Given the description of an element on the screen output the (x, y) to click on. 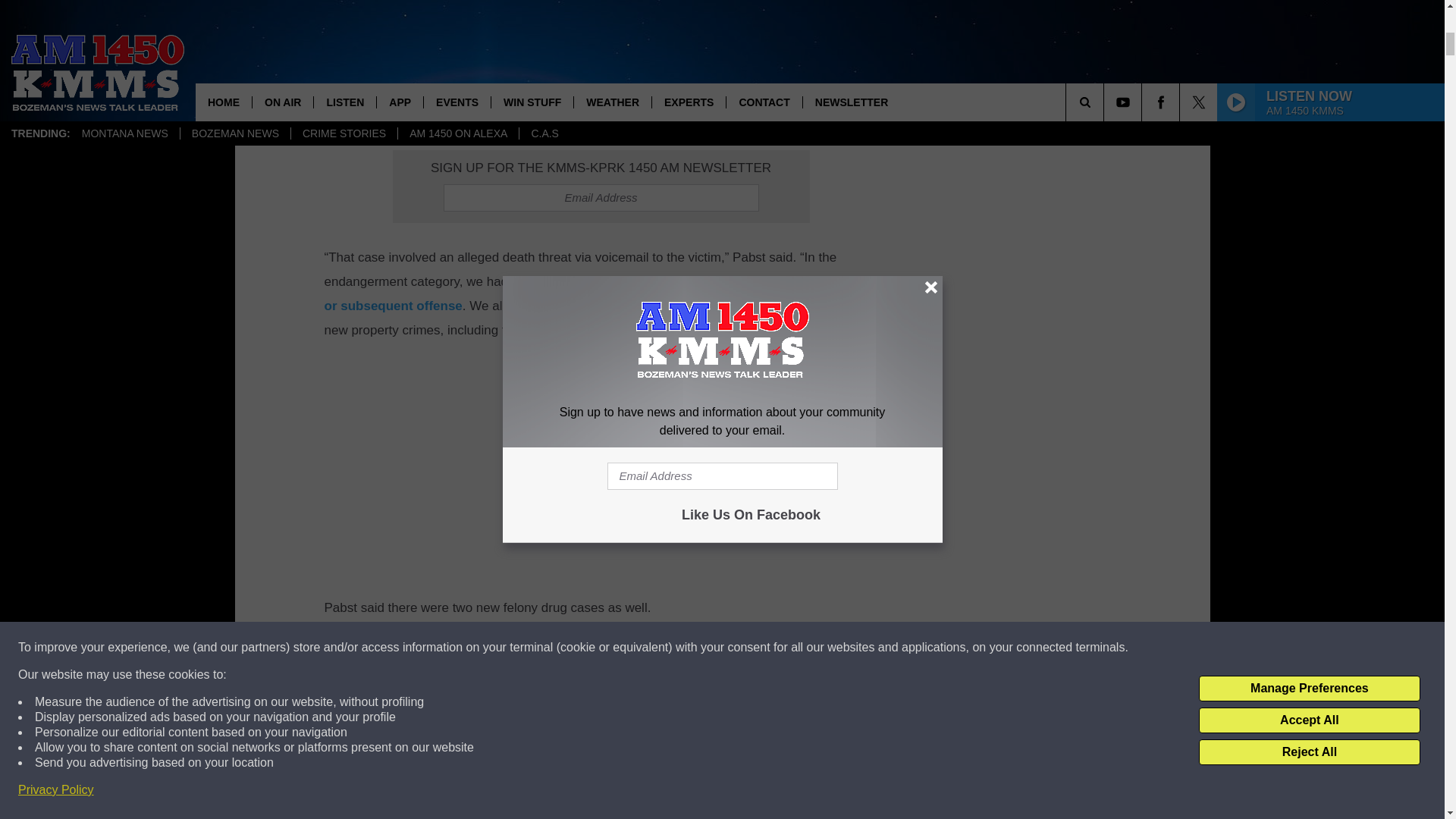
Email Address (600, 197)
